Given the description of an element on the screen output the (x, y) to click on. 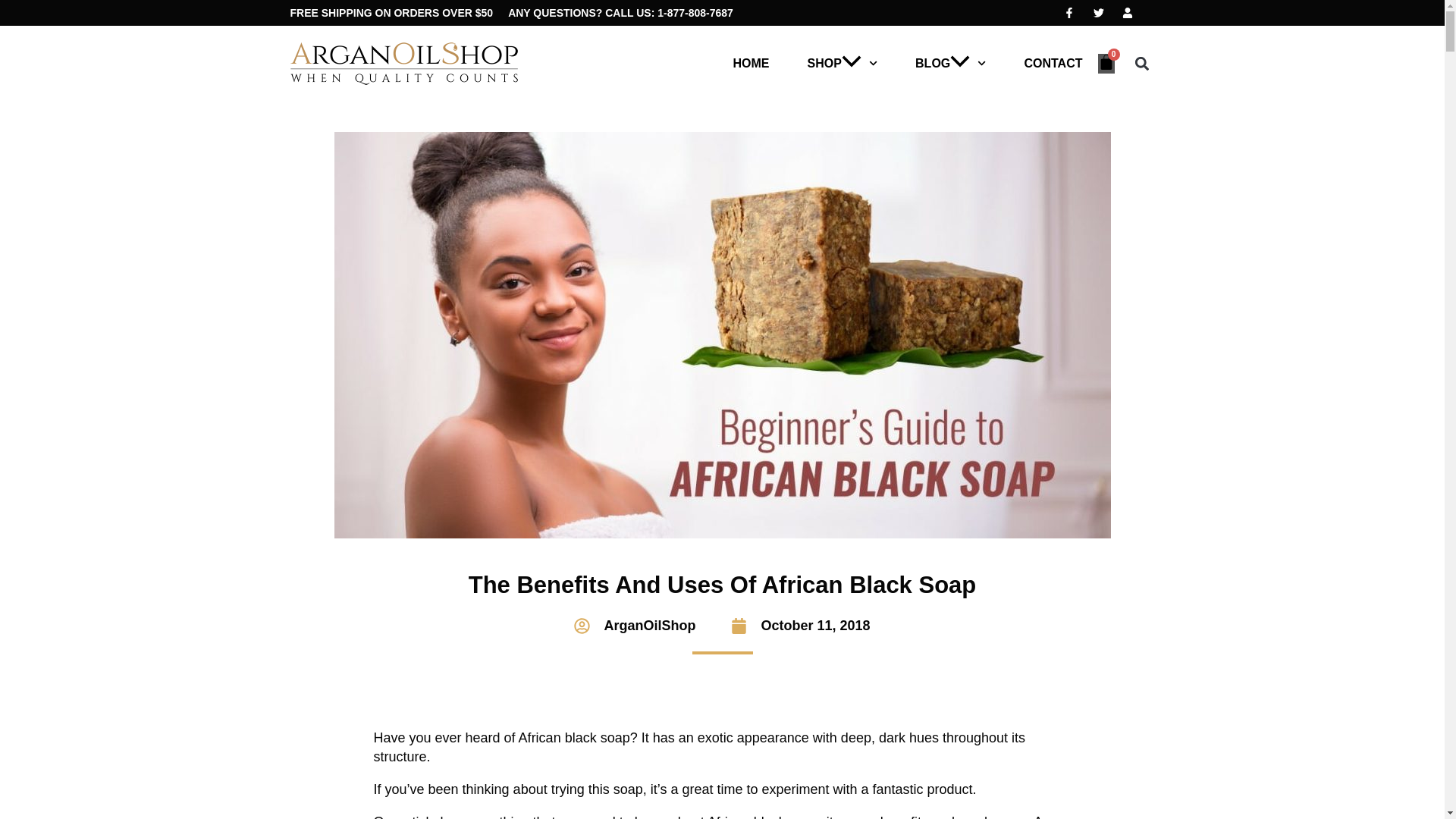
ArganOilShop (634, 625)
CONTACT (1052, 63)
BLOG (950, 63)
SHOP (842, 63)
HOME (751, 63)
ANY QUESTIONS? CALL US: 1-877-808-7687 (620, 12)
